Given the description of an element on the screen output the (x, y) to click on. 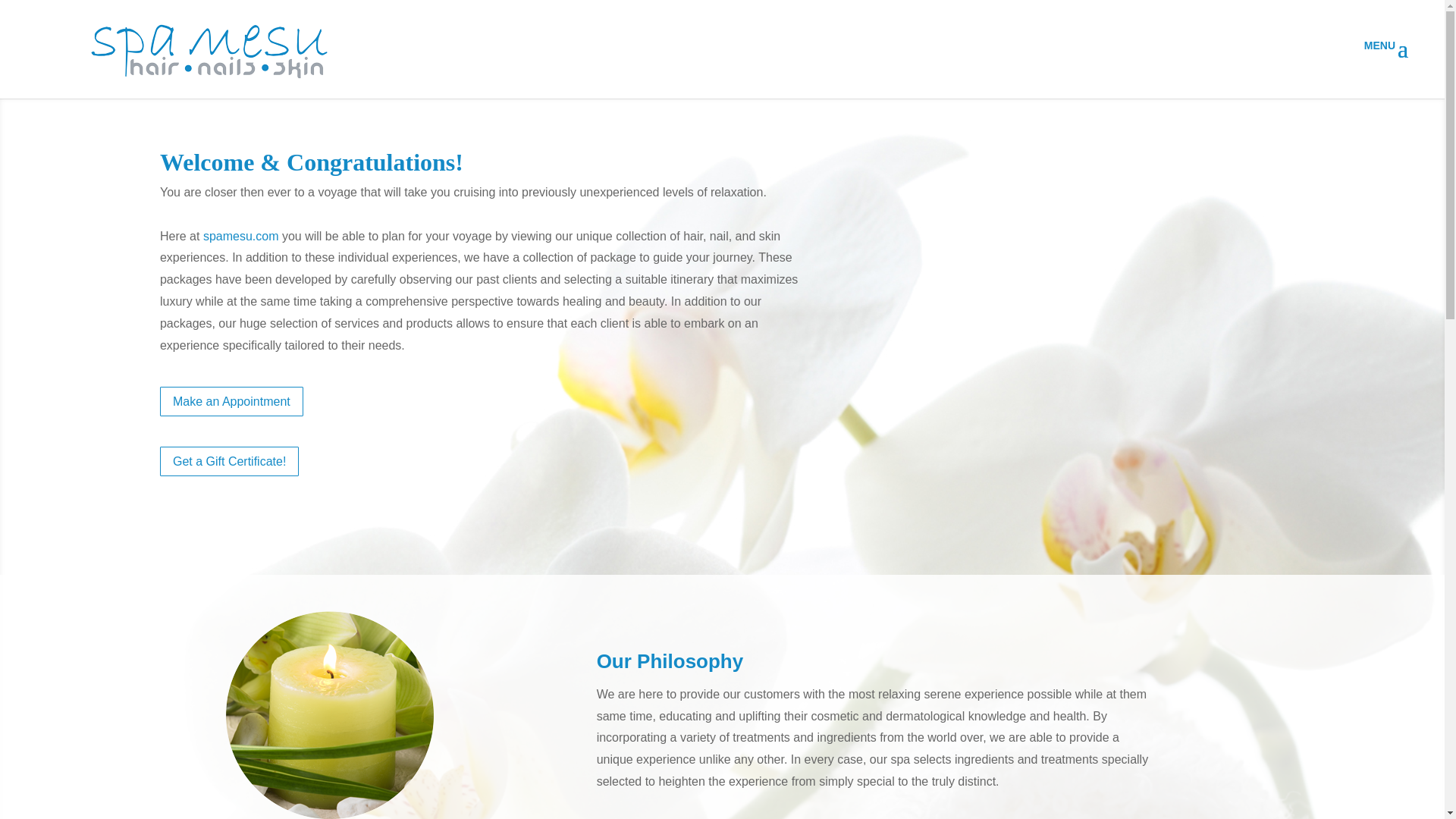
Get a Gift Certificate! (229, 460)
spamesu.com (241, 236)
Make an Appointment (231, 401)
